Given the description of an element on the screen output the (x, y) to click on. 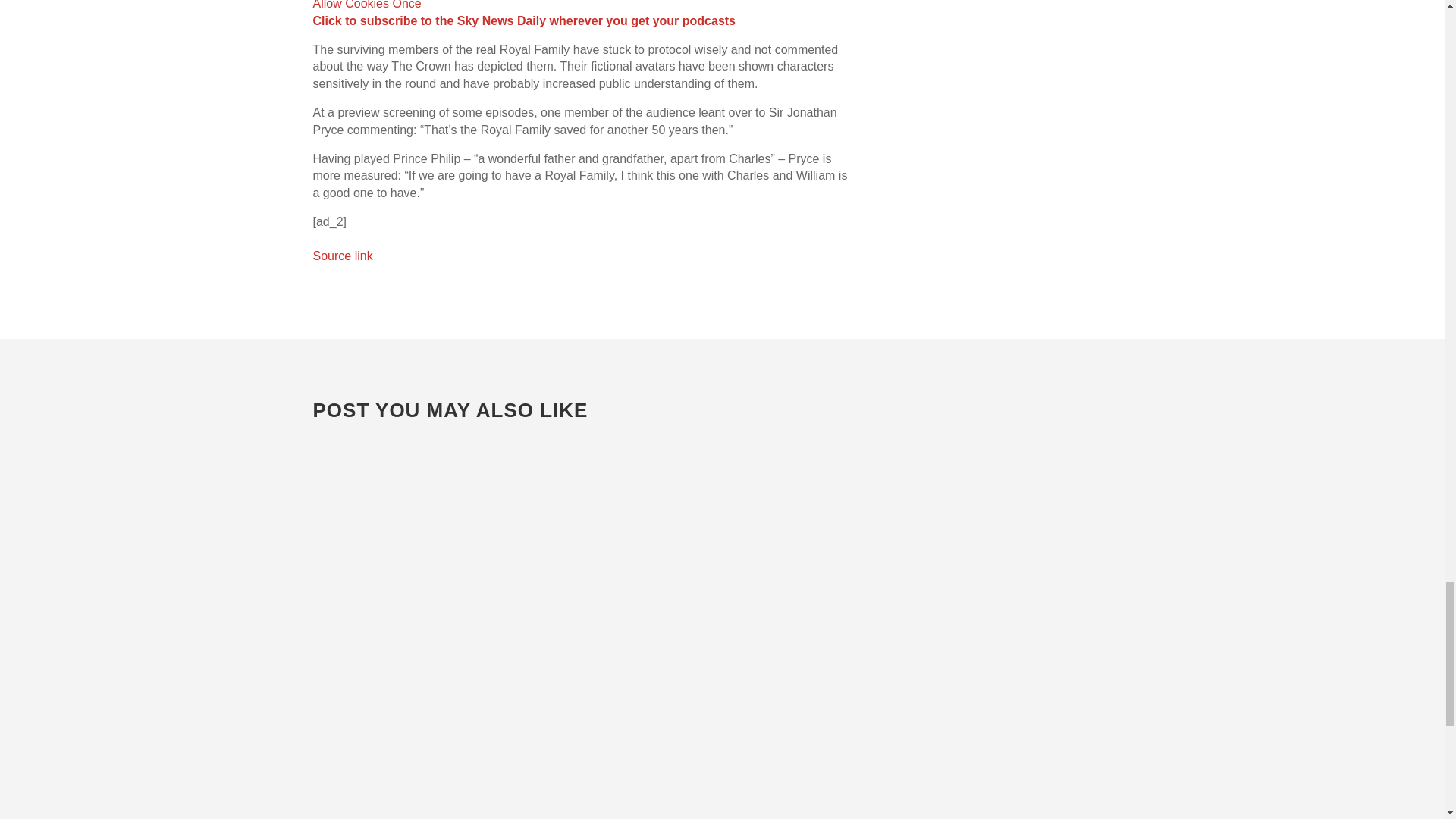
Allow Cookies Once (366, 4)
Source link (342, 255)
